Given the description of an element on the screen output the (x, y) to click on. 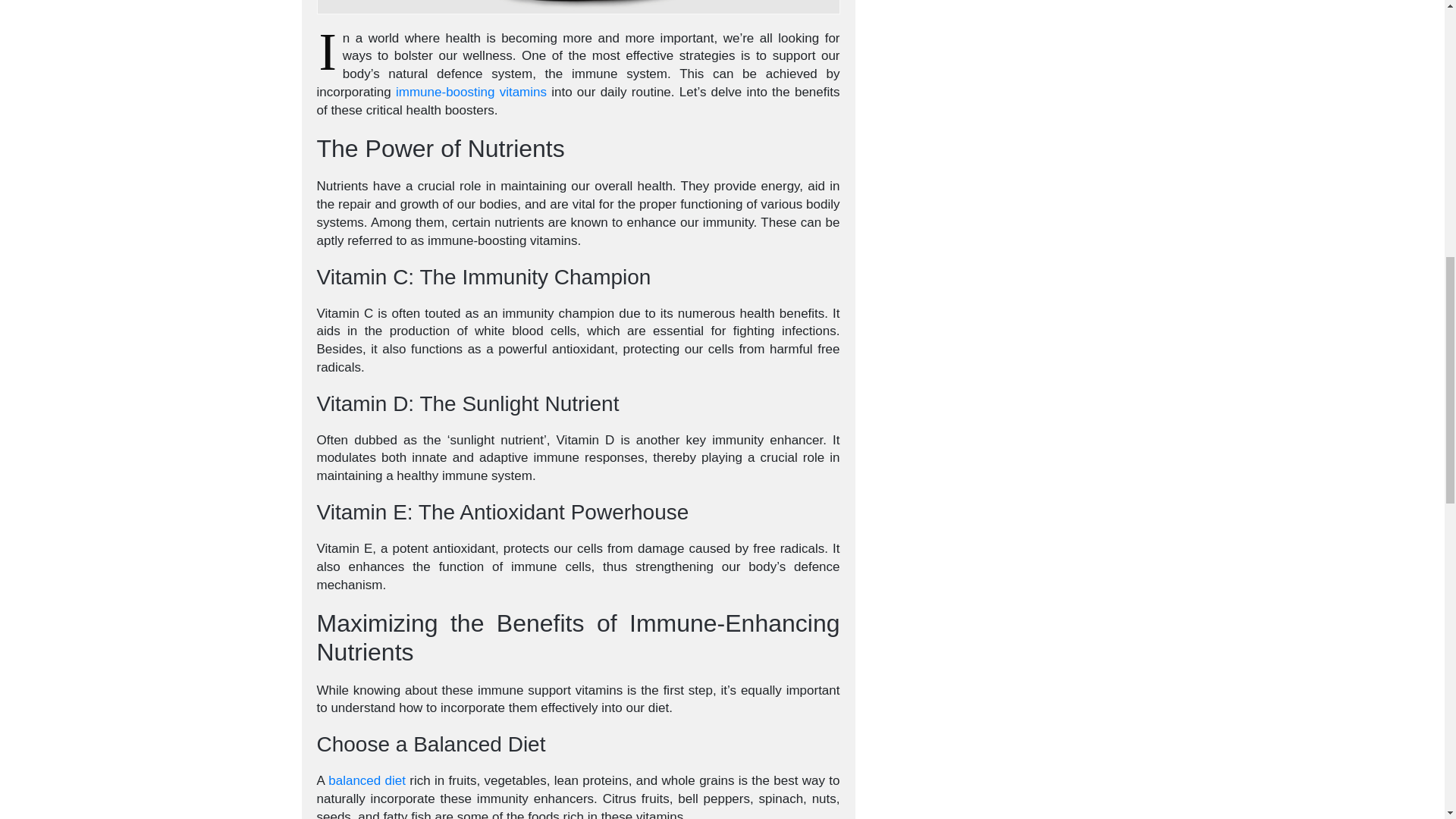
immune-boosting vitamins (471, 92)
balanced diet (367, 780)
